Given the description of an element on the screen output the (x, y) to click on. 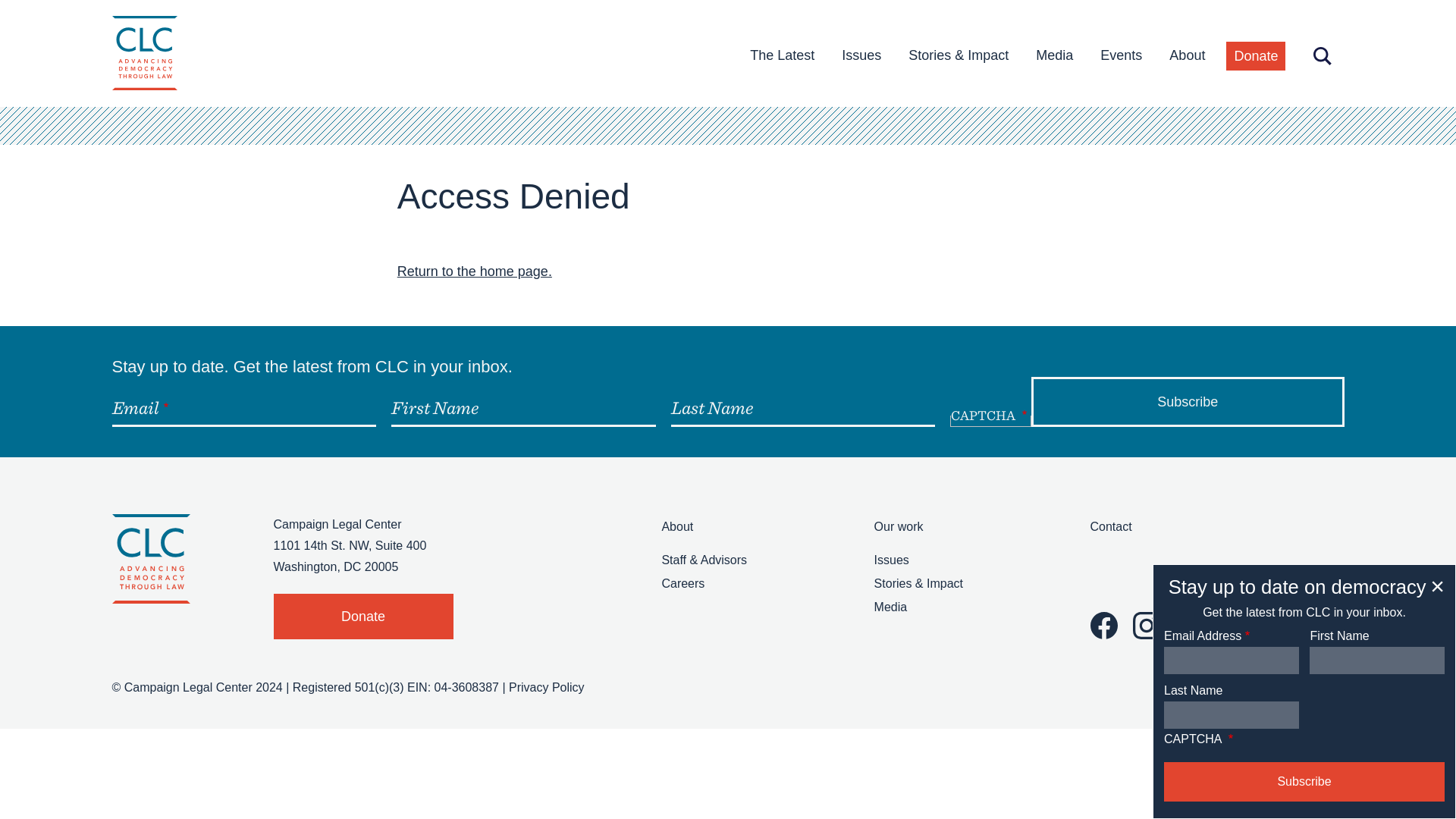
About (677, 526)
The Latest (782, 55)
Subscribe (1186, 401)
About (1187, 55)
Issues (860, 55)
Events (1121, 55)
Contact (1111, 526)
Media (891, 606)
Media Center (1053, 55)
Issues (860, 55)
Linkedin (1273, 625)
YouTube (1230, 625)
Donate (362, 616)
Issues (891, 559)
